Given the description of an element on the screen output the (x, y) to click on. 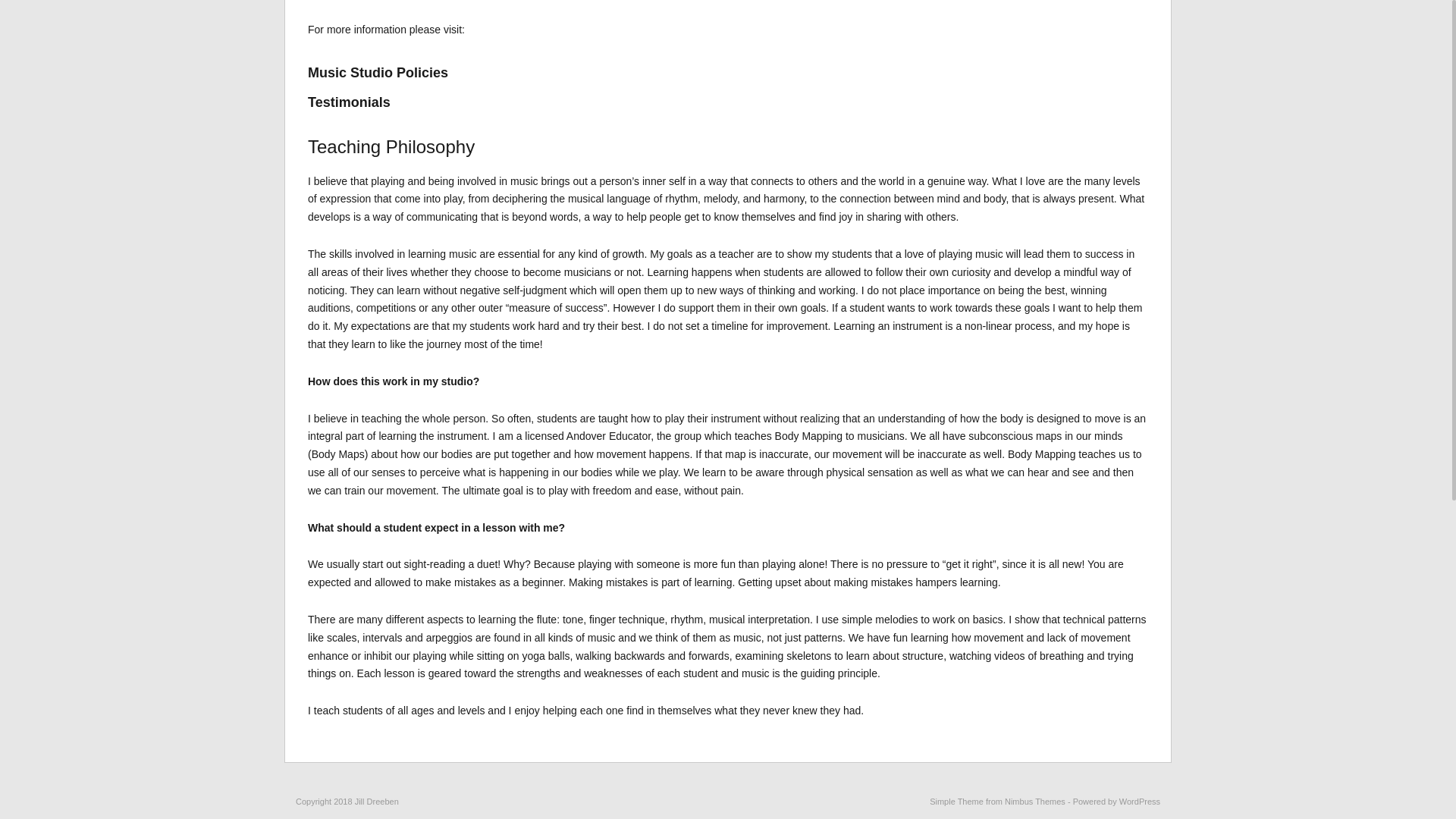
Music Studio Policies (377, 72)
Testimonials (348, 102)
